Given the description of an element on the screen output the (x, y) to click on. 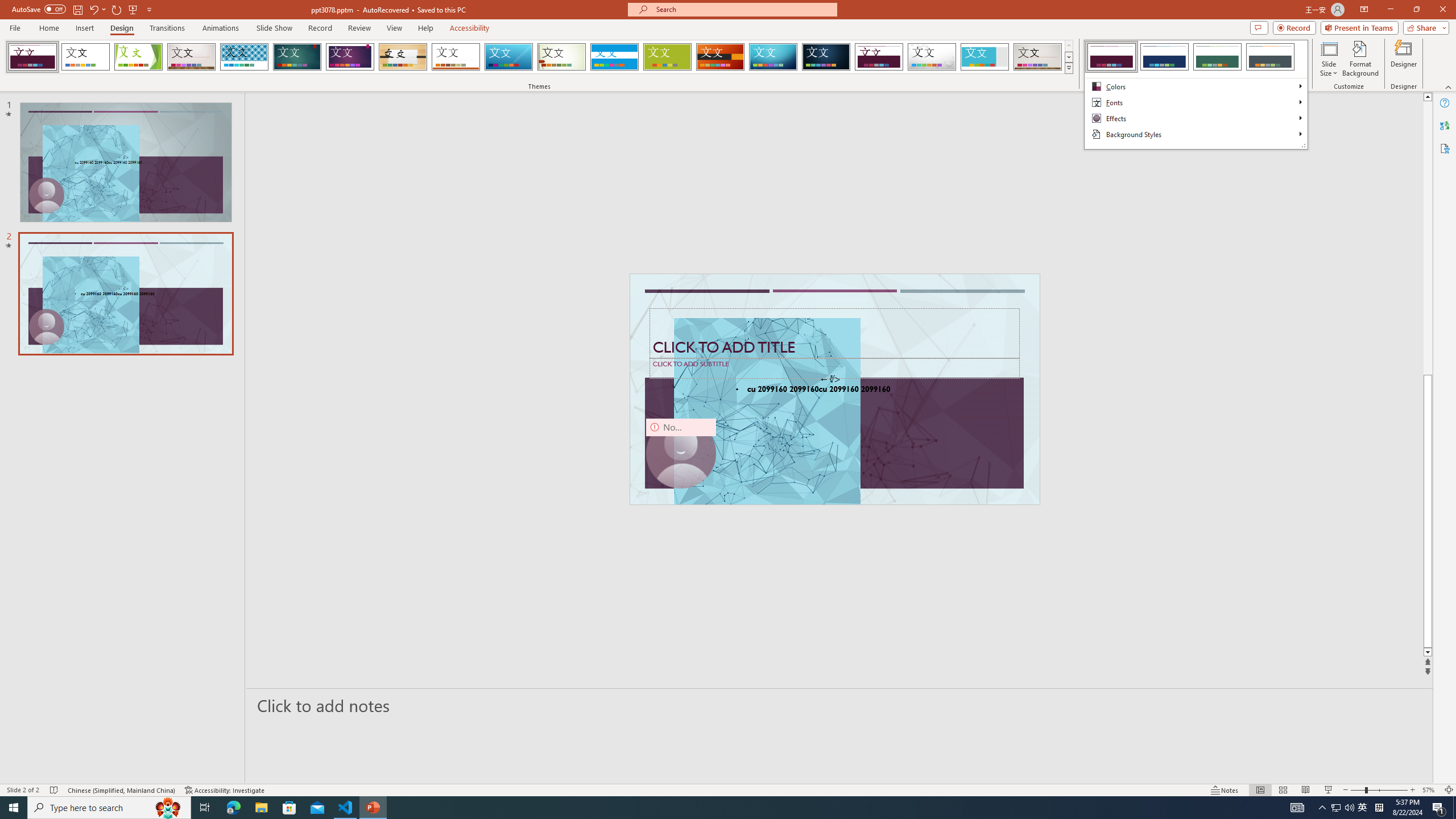
Page 1 content (719, 416)
